Given the description of an element on the screen output the (x, y) to click on. 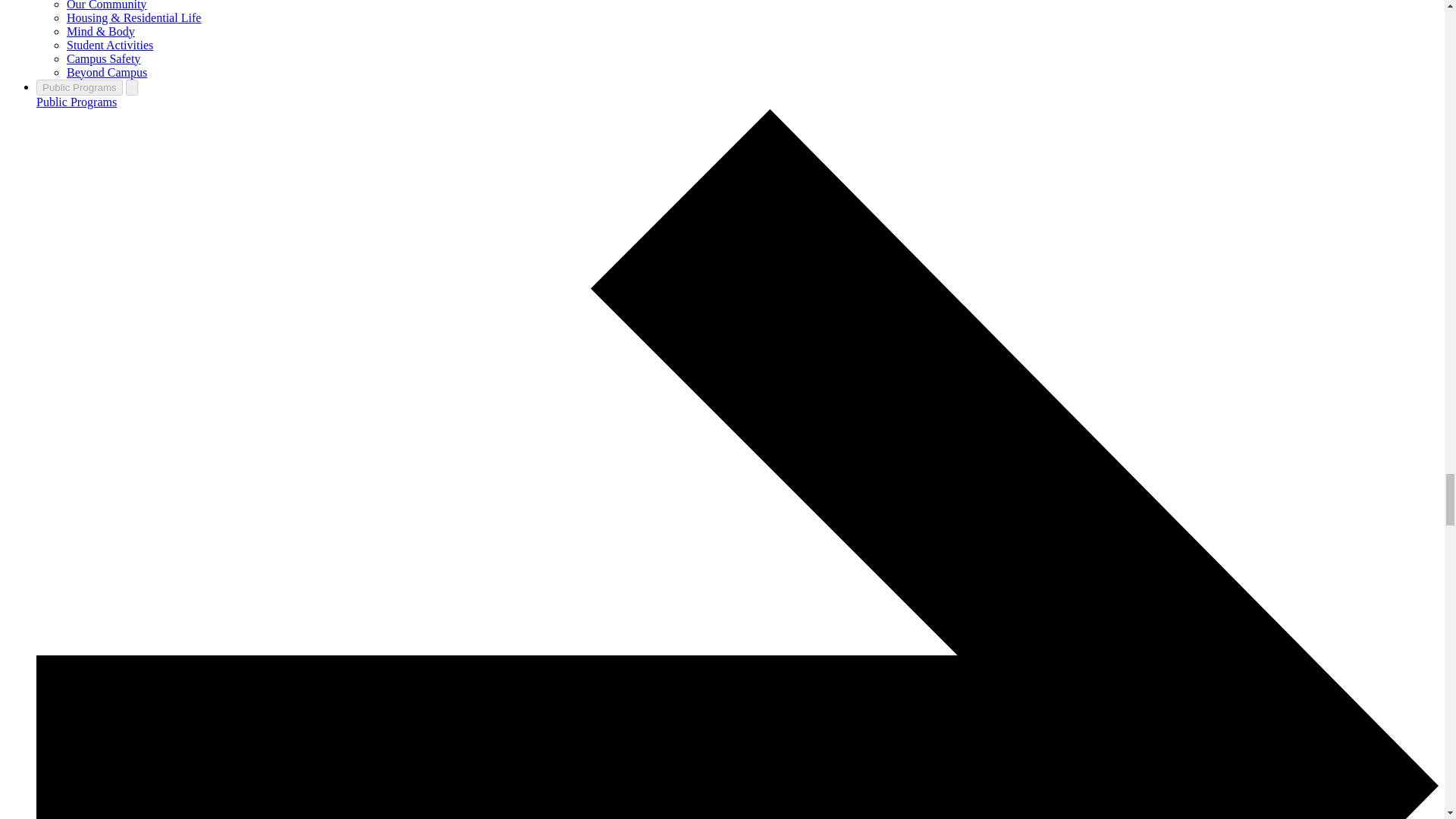
Campus Safety (102, 58)
Our Community (106, 5)
Beyond Campus (106, 72)
Student Activities (109, 44)
